Given the description of an element on the screen output the (x, y) to click on. 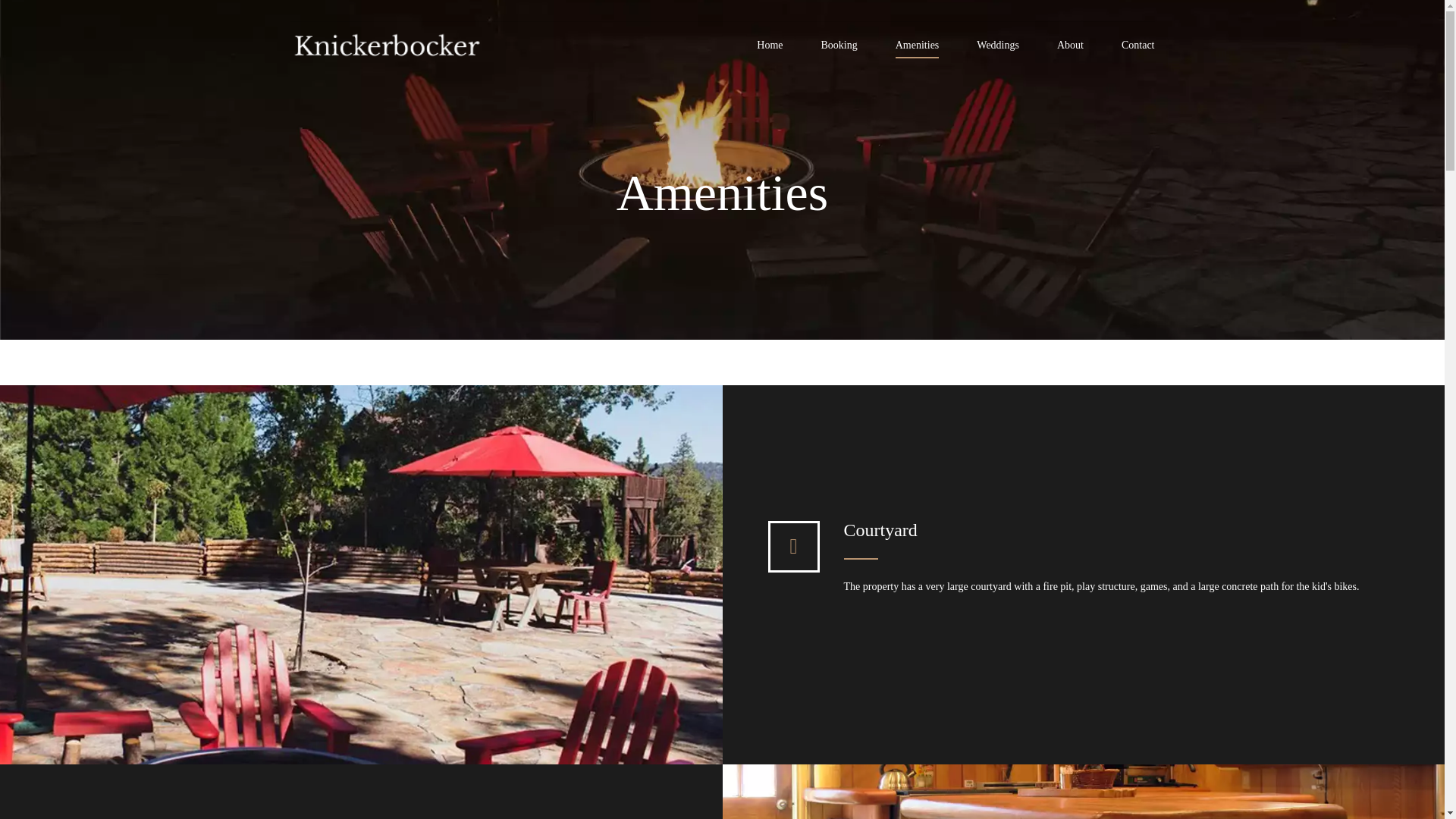
Home (770, 49)
Contact (1137, 49)
Booking (839, 49)
Amenities (917, 49)
About (1070, 49)
Weddings (997, 49)
